Given the description of an element on the screen output the (x, y) to click on. 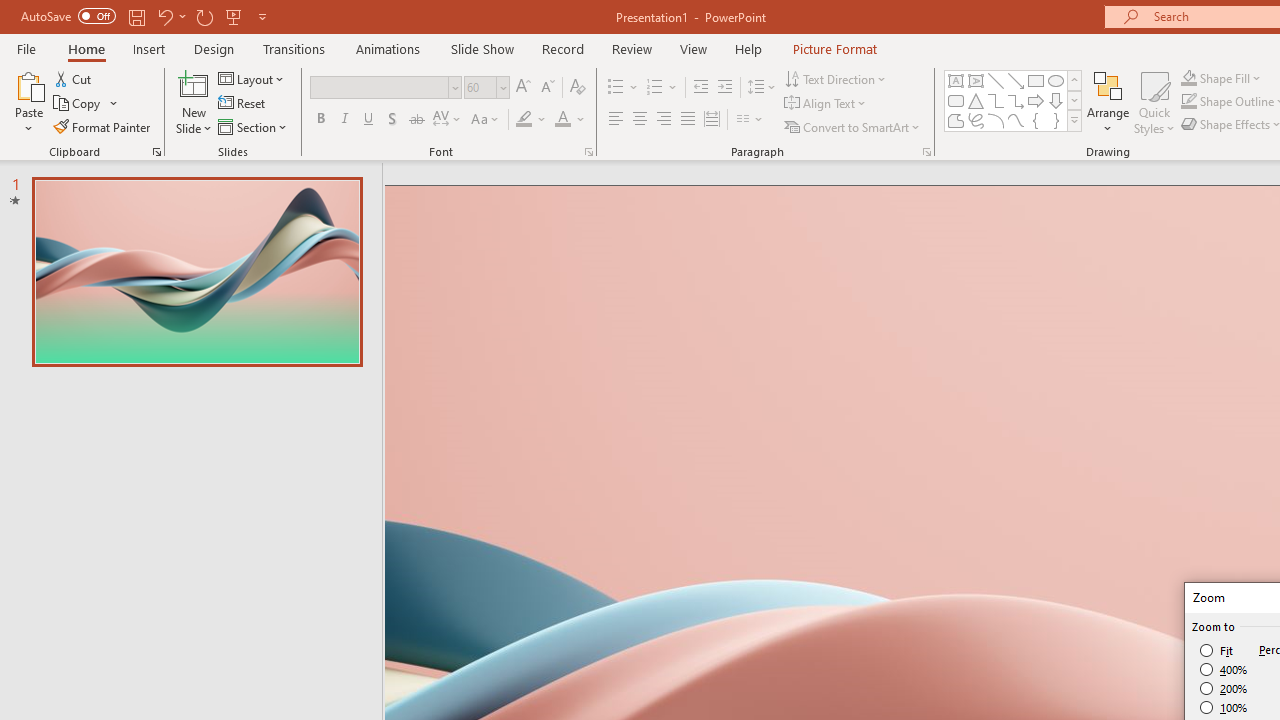
Columns (750, 119)
Text Highlight Color Yellow (524, 119)
Strikethrough (416, 119)
Decrease Font Size (547, 87)
Arc (995, 120)
Line Spacing (762, 87)
Line Arrow (1016, 80)
Arrange (1108, 102)
